Given the description of an element on the screen output the (x, y) to click on. 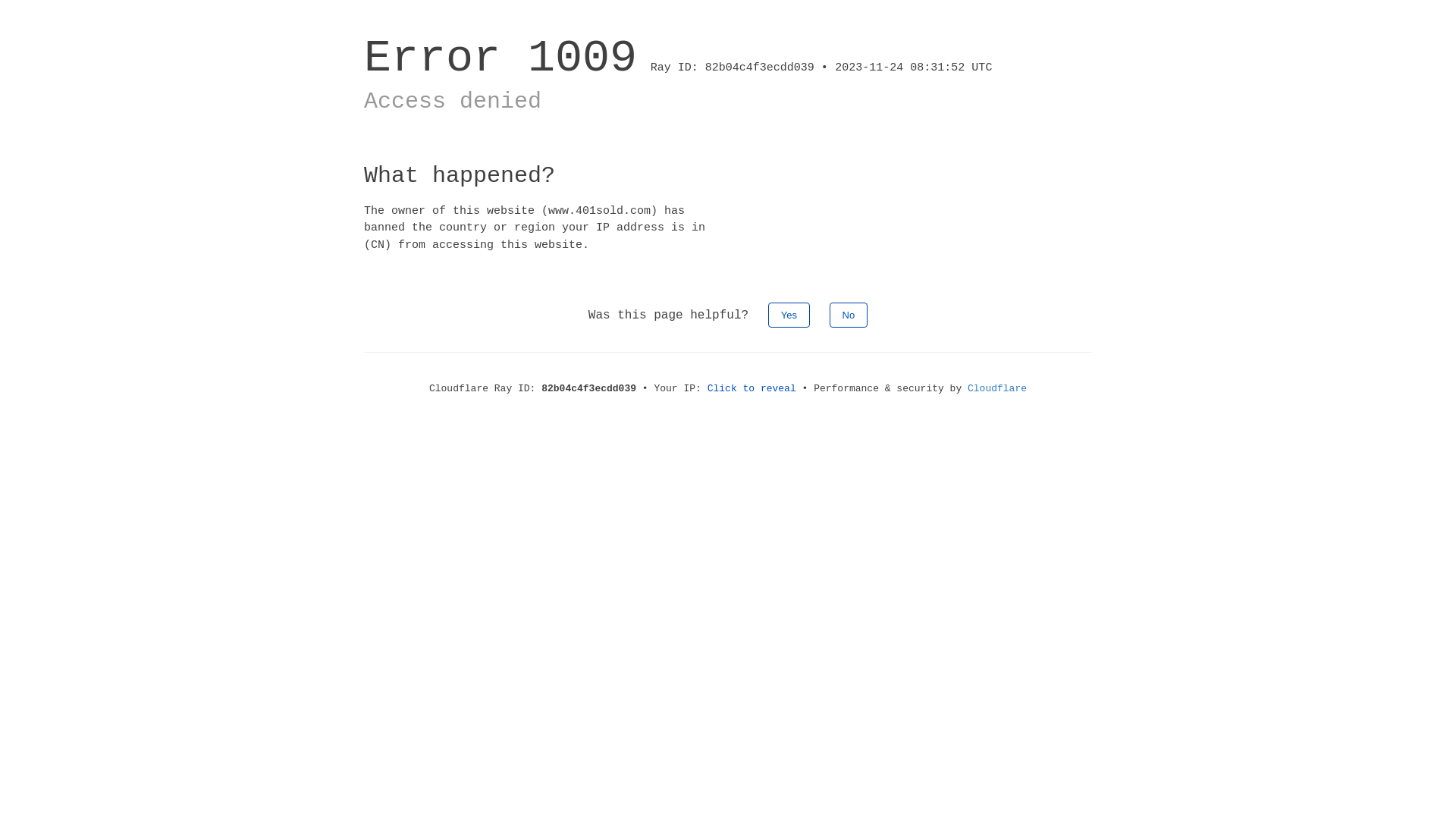
Click to reveal Element type: text (751, 388)
No Element type: text (848, 314)
Cloudflare Element type: text (996, 388)
Yes Element type: text (788, 314)
